Given the description of an element on the screen output the (x, y) to click on. 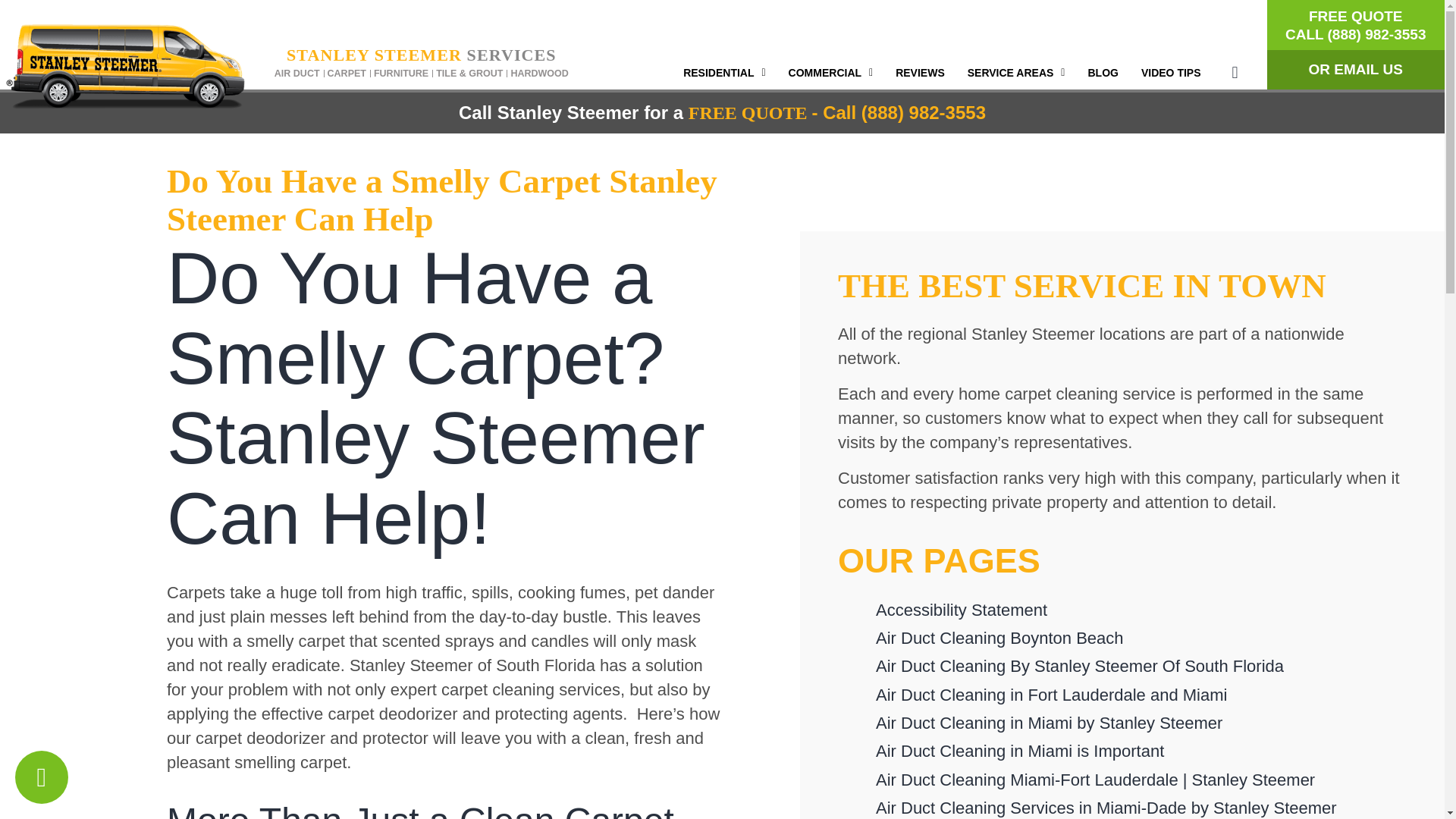
RESIDENTIAL (723, 72)
HARDWOOD (539, 73)
CARPET (346, 73)
AIR DUCT (297, 73)
FURNITURE (401, 73)
